Given the description of an element on the screen output the (x, y) to click on. 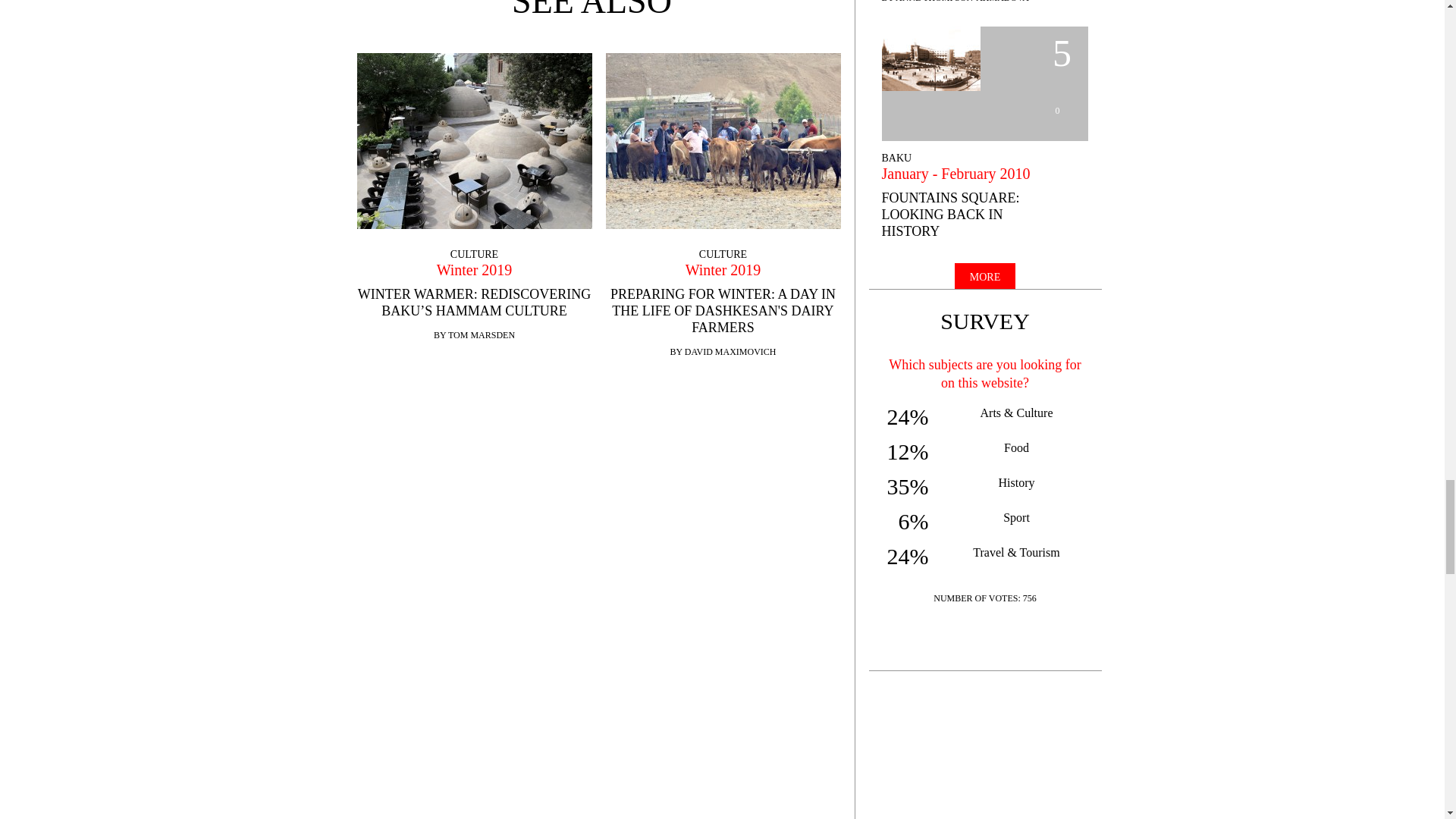
Culture (473, 254)
Winter 2019 (473, 270)
Winter 2019 (722, 270)
Culture (722, 254)
